Given the description of an element on the screen output the (x, y) to click on. 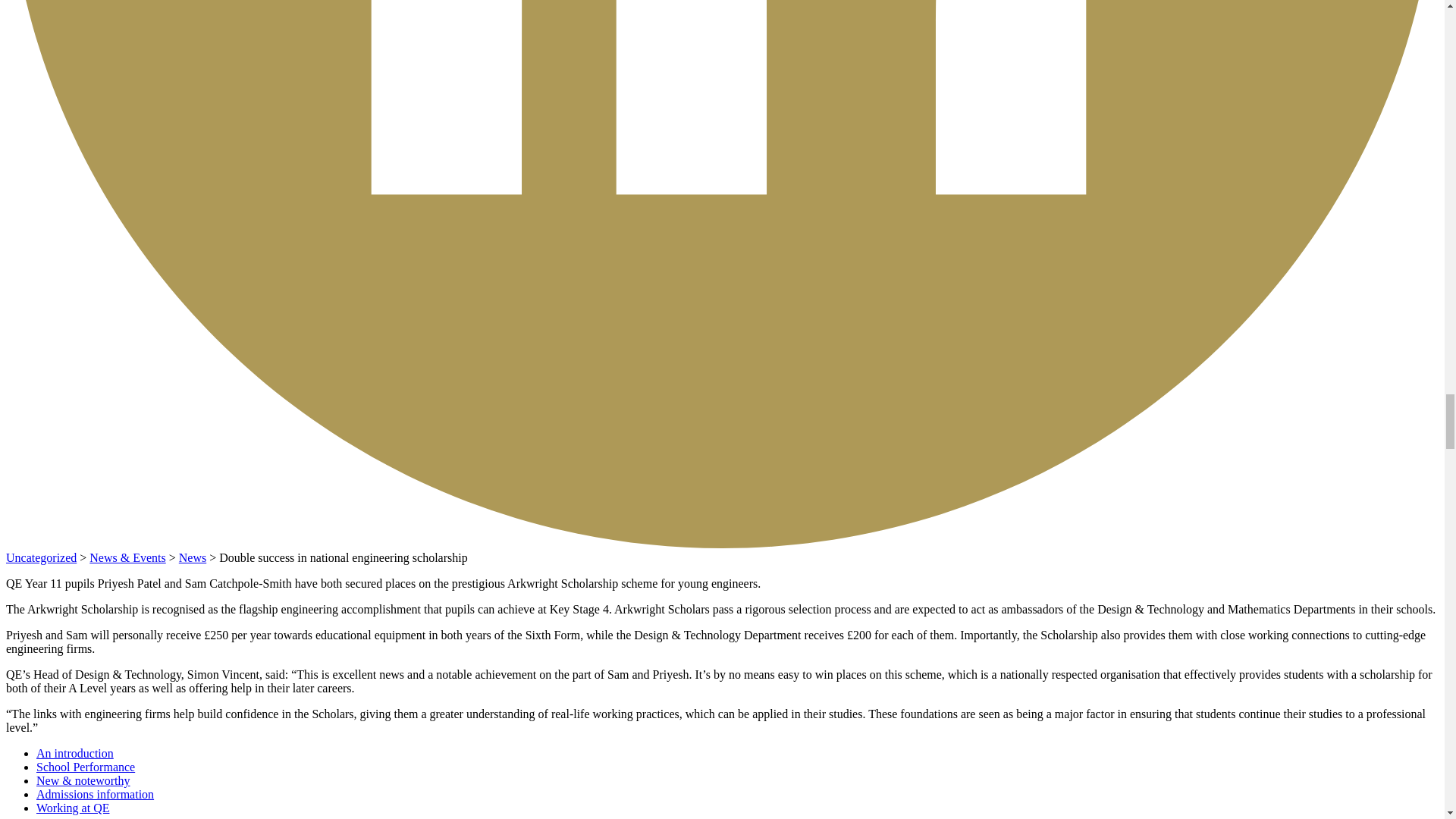
Go to News (192, 557)
Go to the Uncategorized category archives. (41, 557)
Go to News (126, 557)
